Given the description of an element on the screen output the (x, y) to click on. 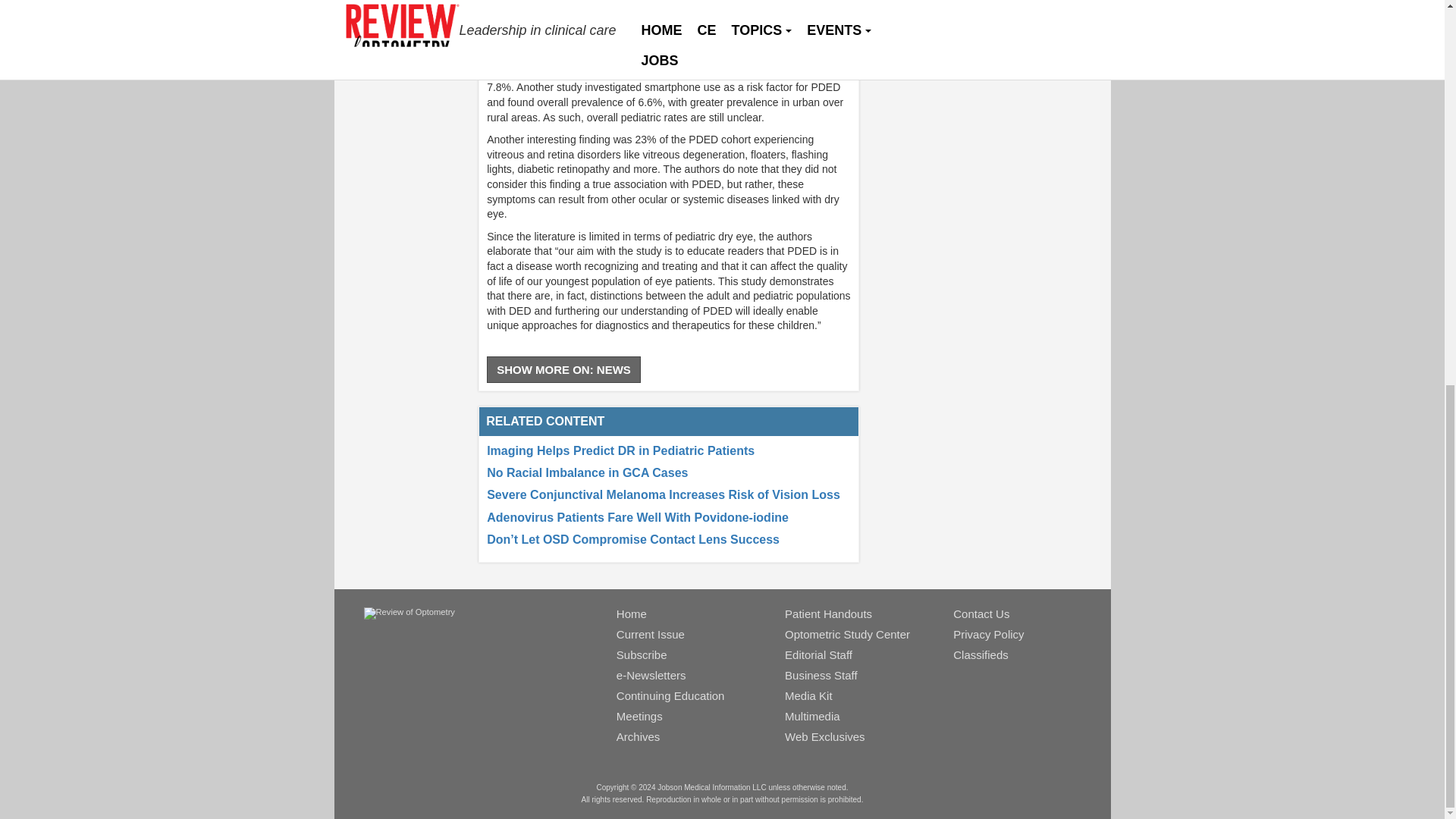
Severe Conjunctival Melanoma Increases Risk of Vision Loss (663, 494)
SHOW MORE ON: NEWS (563, 369)
No Racial Imbalance in GCA Cases (586, 472)
Adenovirus Patients Fare Well With Povidone-iodine (637, 517)
Imaging Helps Predict DR in Pediatric Patients (620, 450)
